Given the description of an element on the screen output the (x, y) to click on. 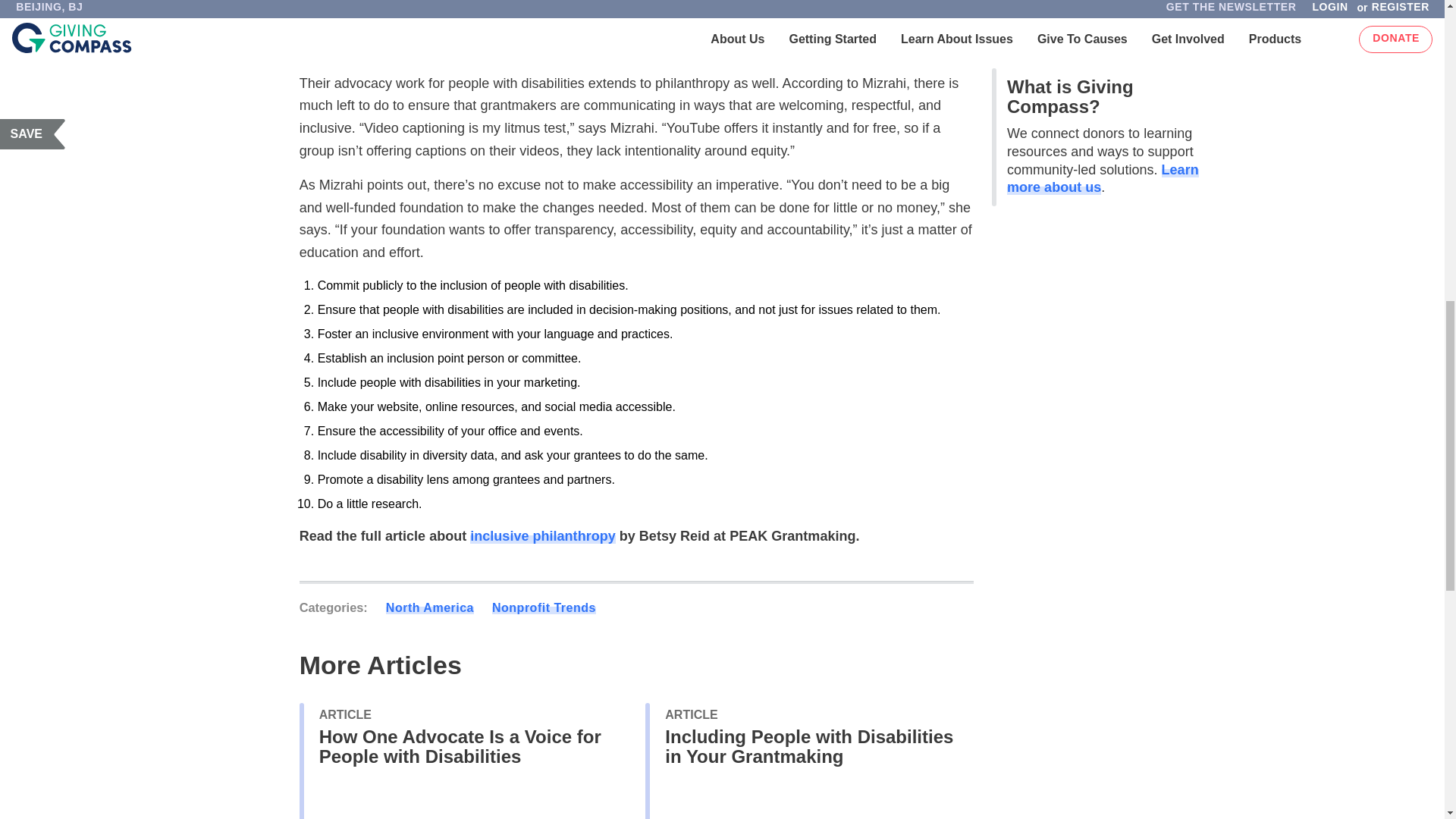
Nonprofit Trends (543, 607)
inclusive philanthropy (542, 534)
North America (429, 607)
